Given the description of an element on the screen output the (x, y) to click on. 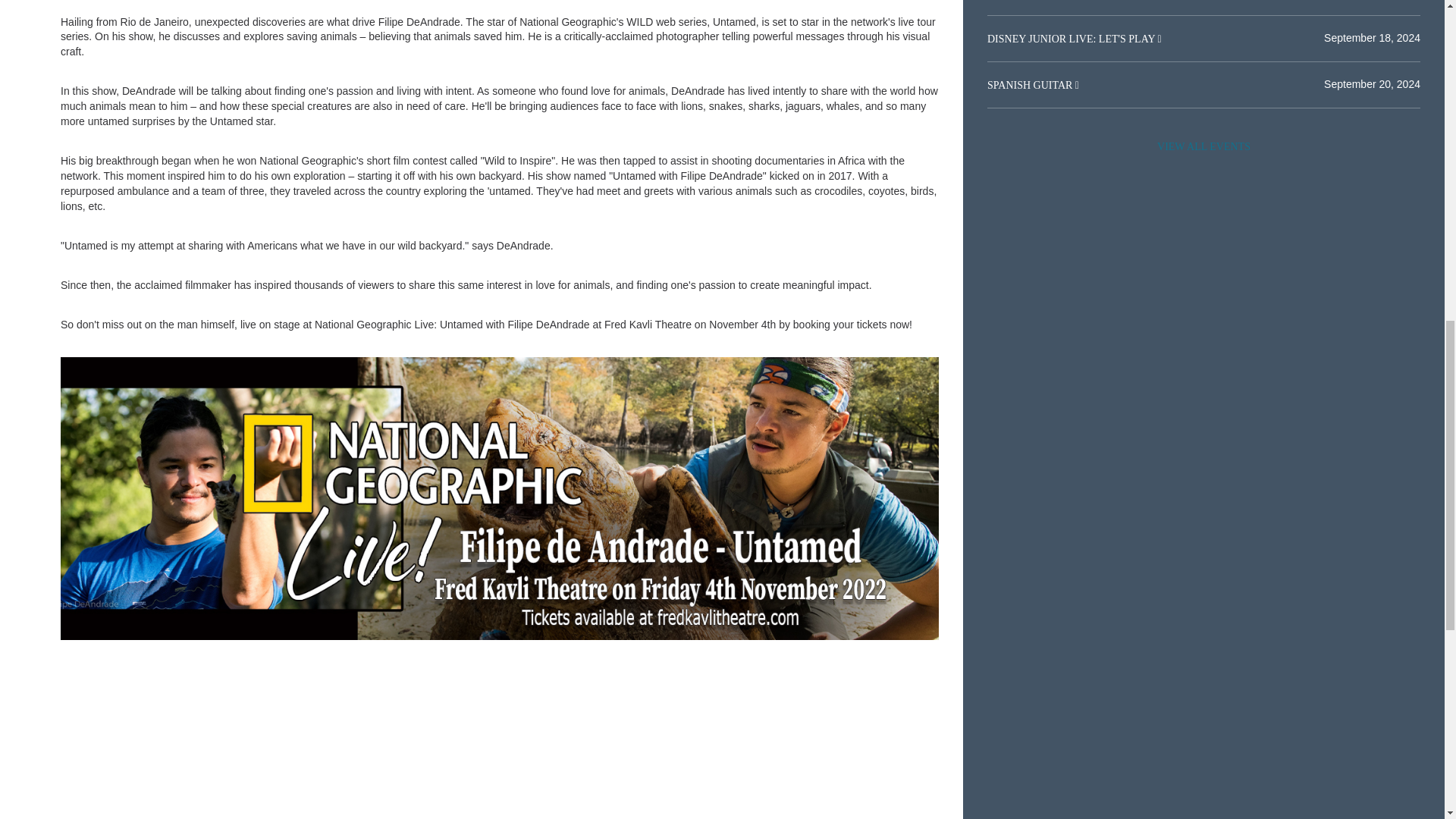
VIEW ALL EVENTS (1203, 146)
DISNEY JUNIOR LIVE: LET'S PLAY (1072, 39)
